Given the description of an element on the screen output the (x, y) to click on. 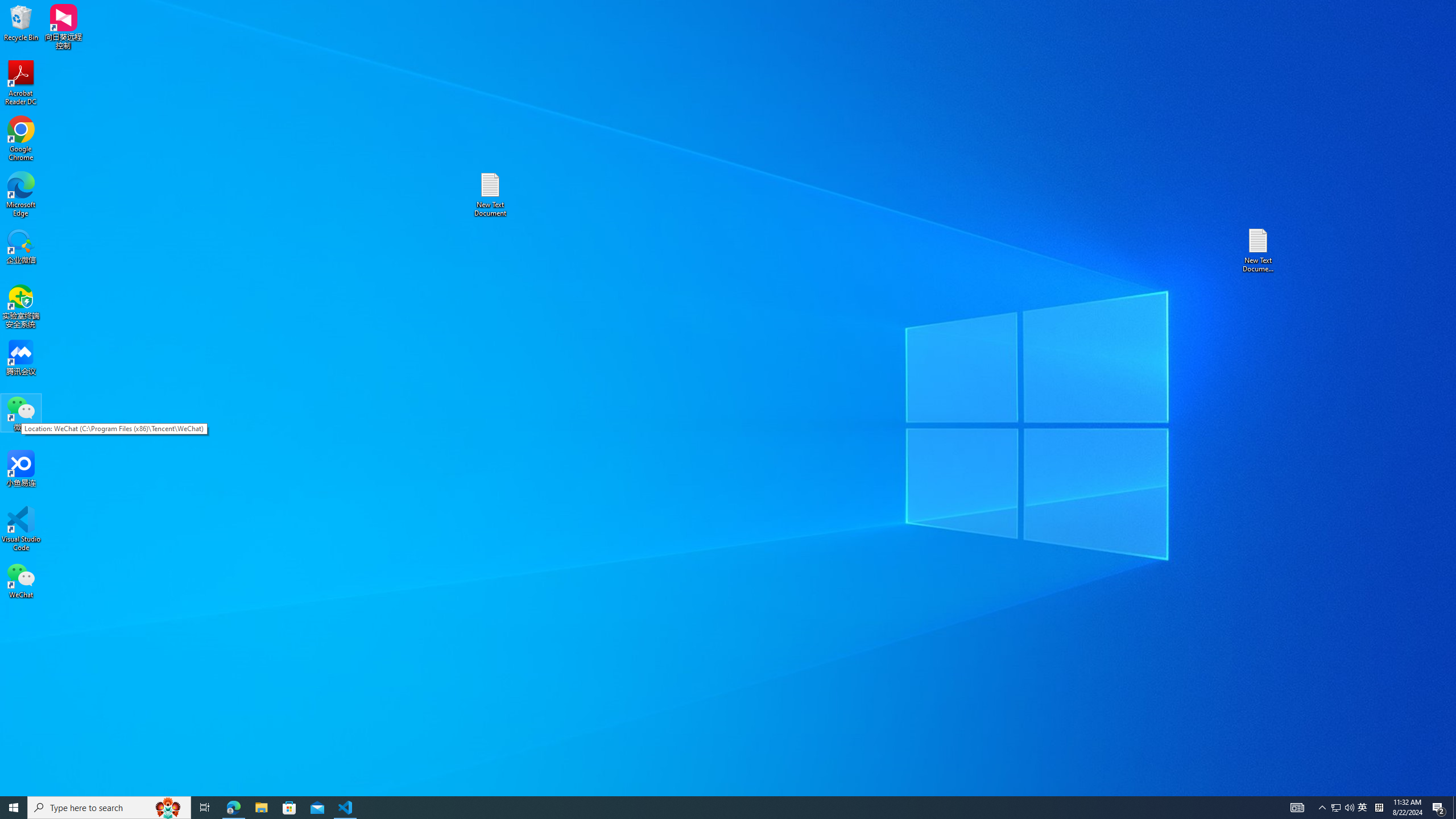
WeChat (21, 580)
Recycle Bin (21, 22)
